Given the description of an element on the screen output the (x, y) to click on. 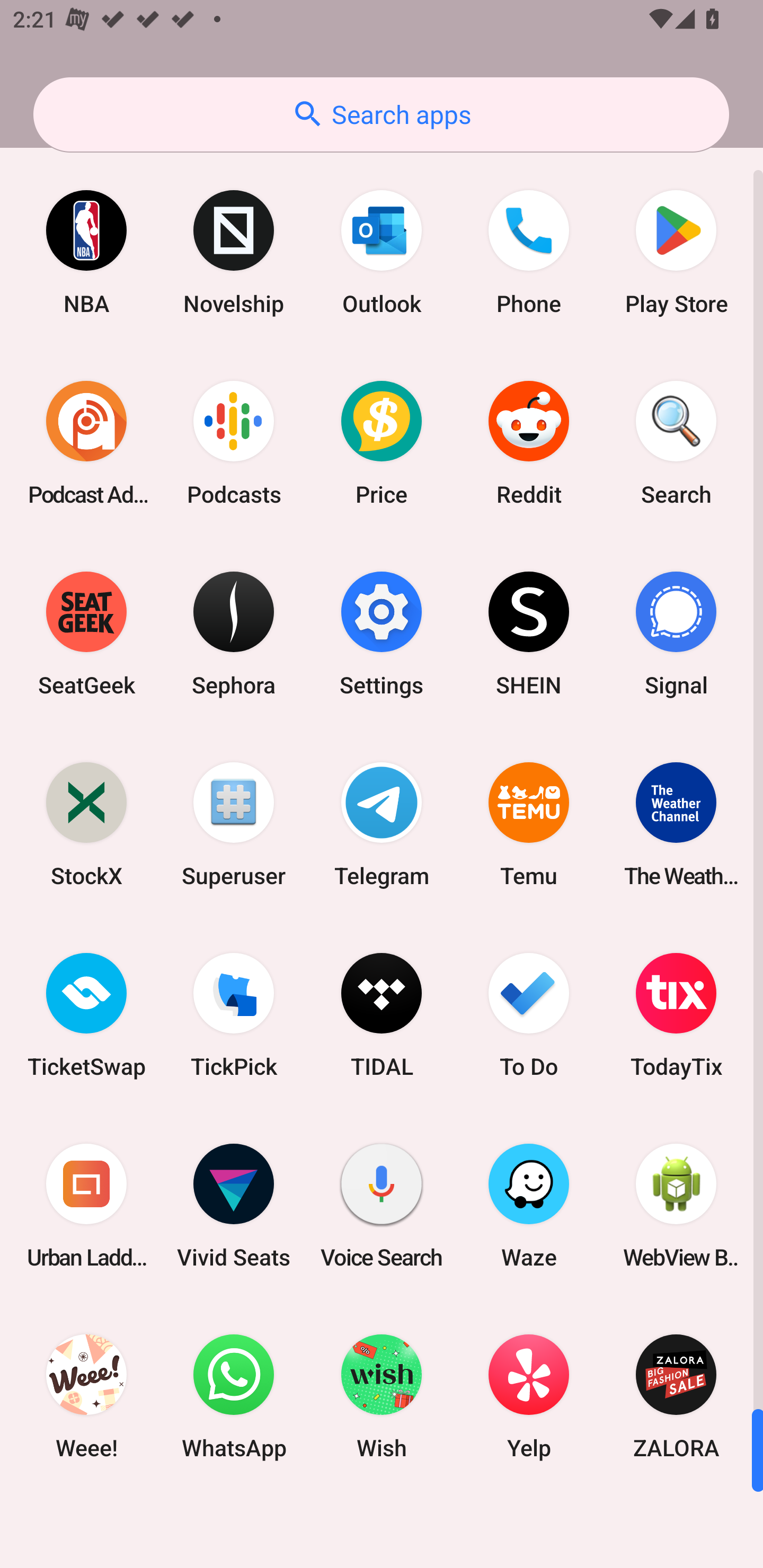
Signal (676, 633)
